Given the description of an element on the screen output the (x, y) to click on. 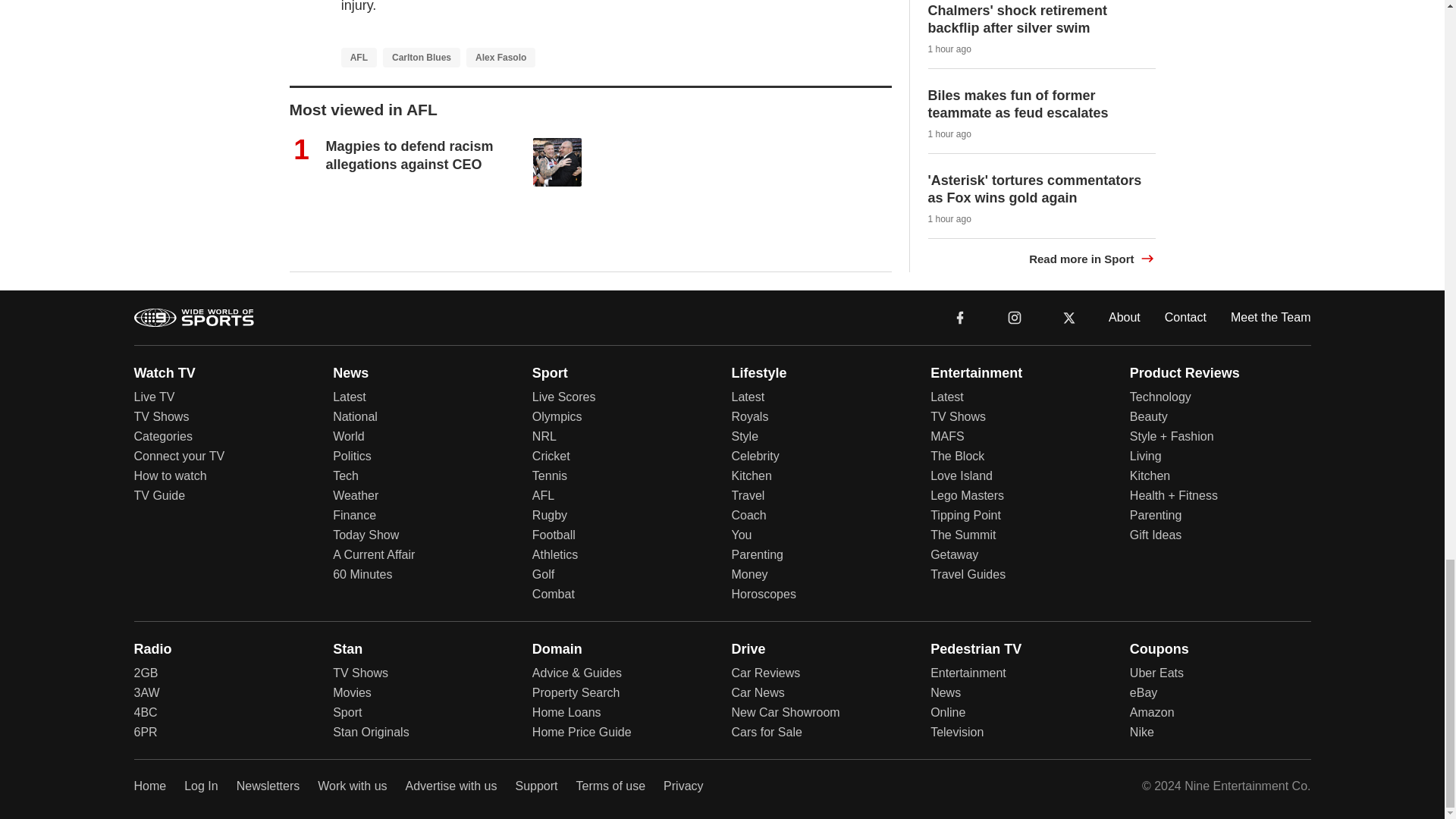
facebook (959, 317)
x (1069, 317)
AFL (358, 57)
Meet the Team (1270, 317)
Contact (1185, 317)
facebook (960, 317)
instagram (1013, 317)
instagram (1013, 317)
facebook (959, 317)
instagram (1014, 317)
About (1124, 317)
x (1069, 317)
Alex Fasolo (500, 57)
Magpies to defend racism allegations against CEO (409, 154)
Carlton Blues (421, 57)
